Given the description of an element on the screen output the (x, y) to click on. 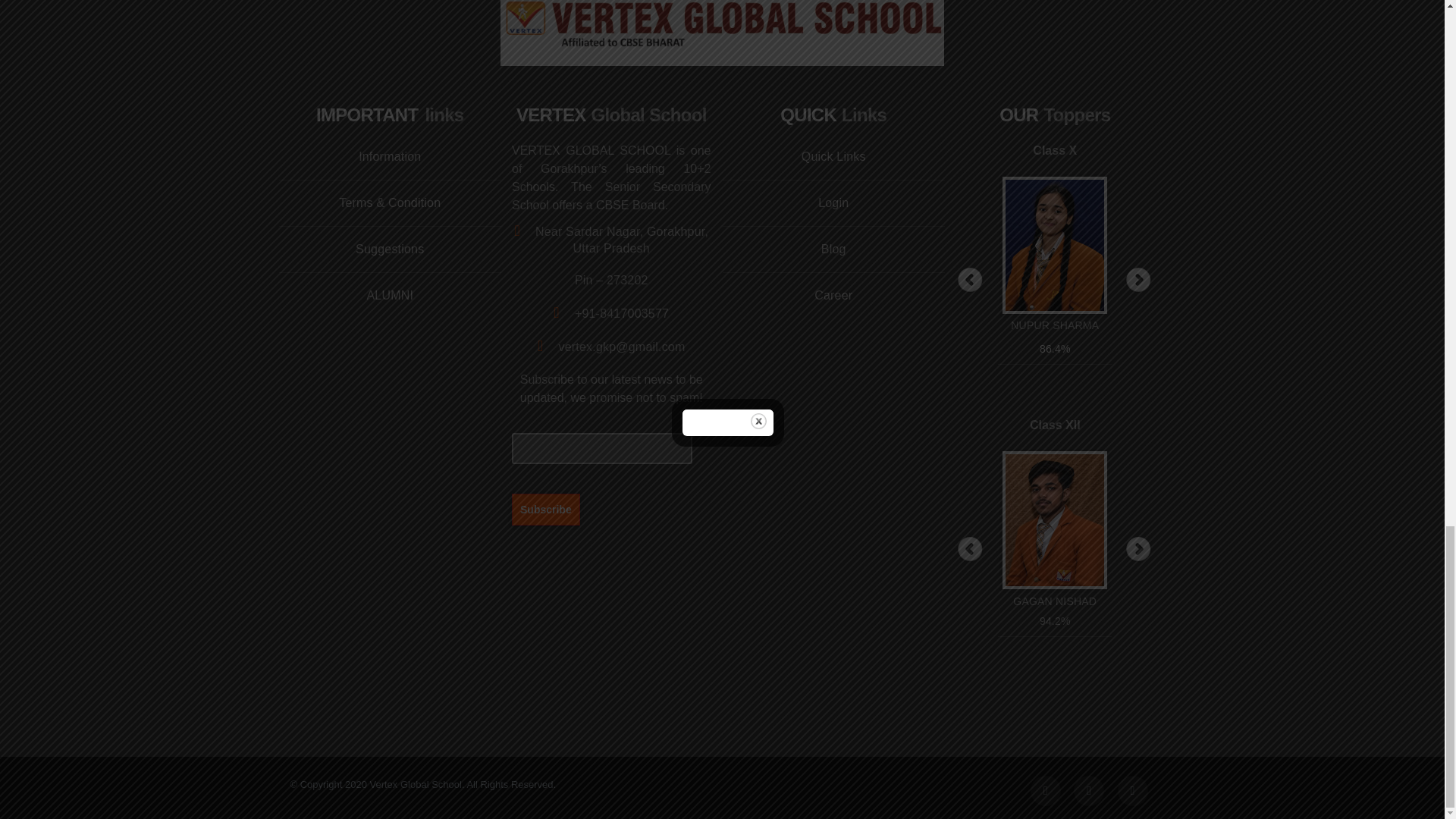
Subscribe (545, 508)
